Given the description of an element on the screen output the (x, y) to click on. 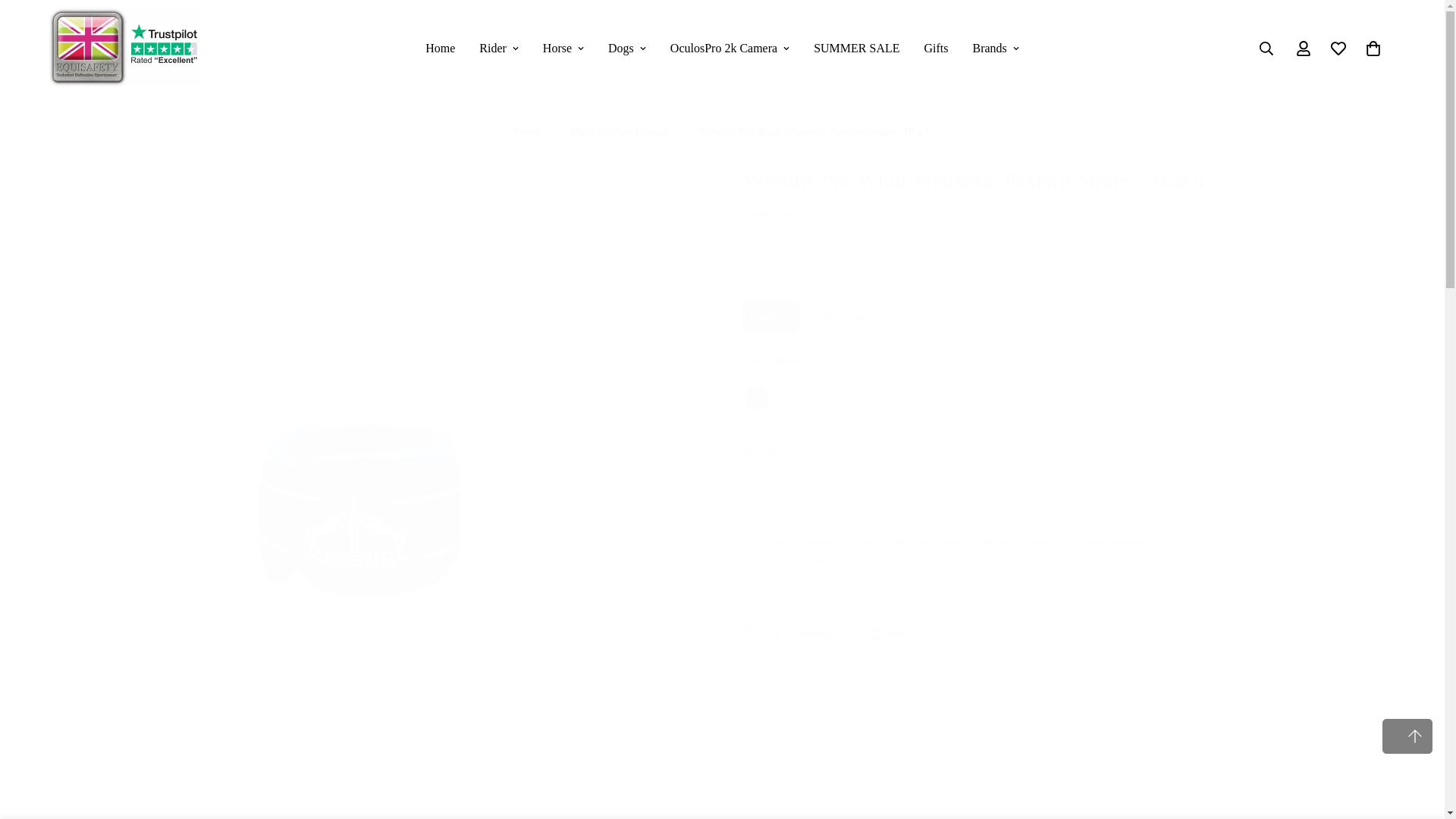
1 (789, 484)
Back to the home page (527, 131)
Equisafety  (124, 48)
